Given the description of an element on the screen output the (x, y) to click on. 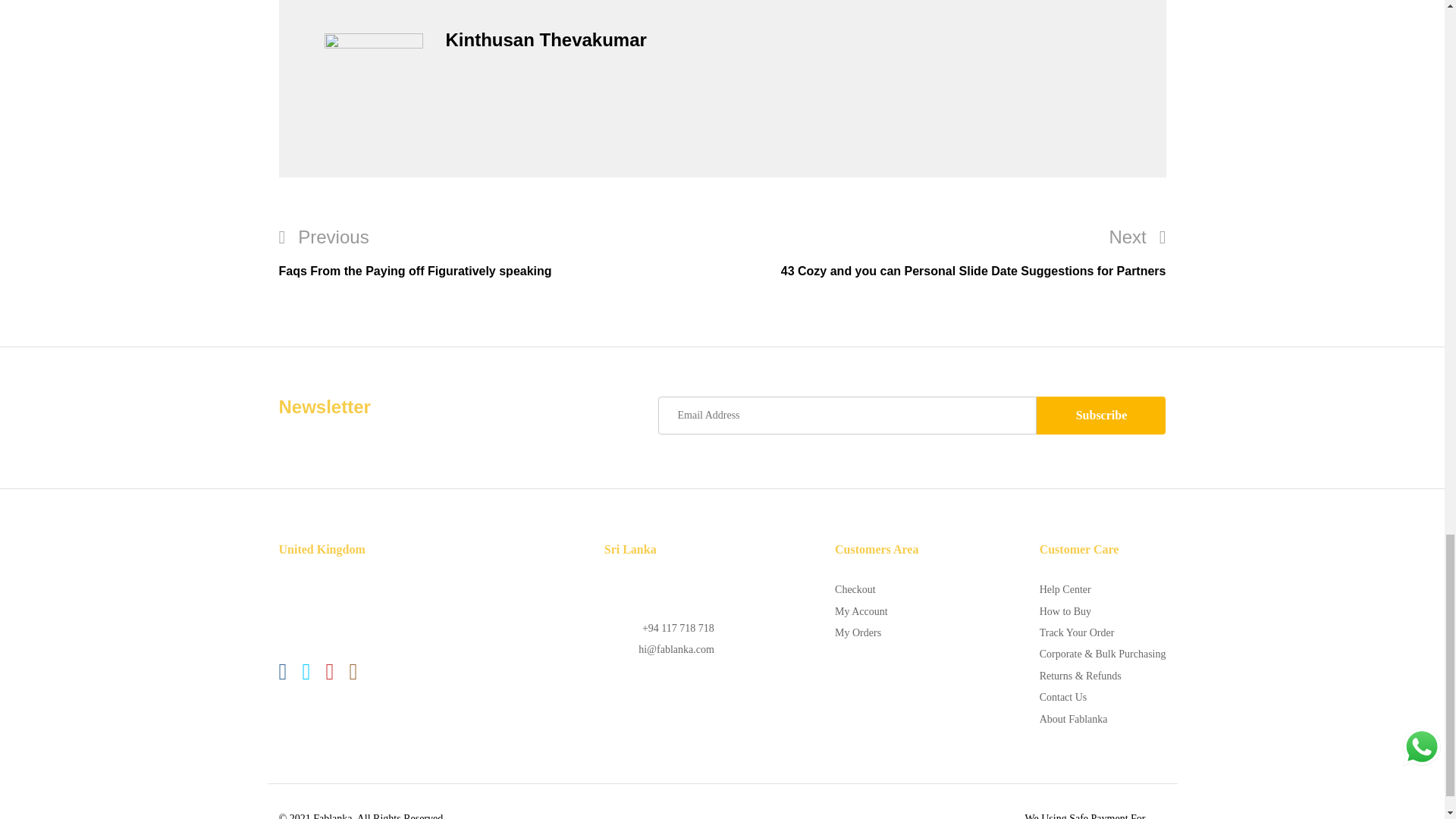
Facebook (282, 672)
Subscribe (1101, 415)
Instagram (352, 672)
Twitter (305, 672)
Youtube (328, 672)
